Given the description of an element on the screen output the (x, y) to click on. 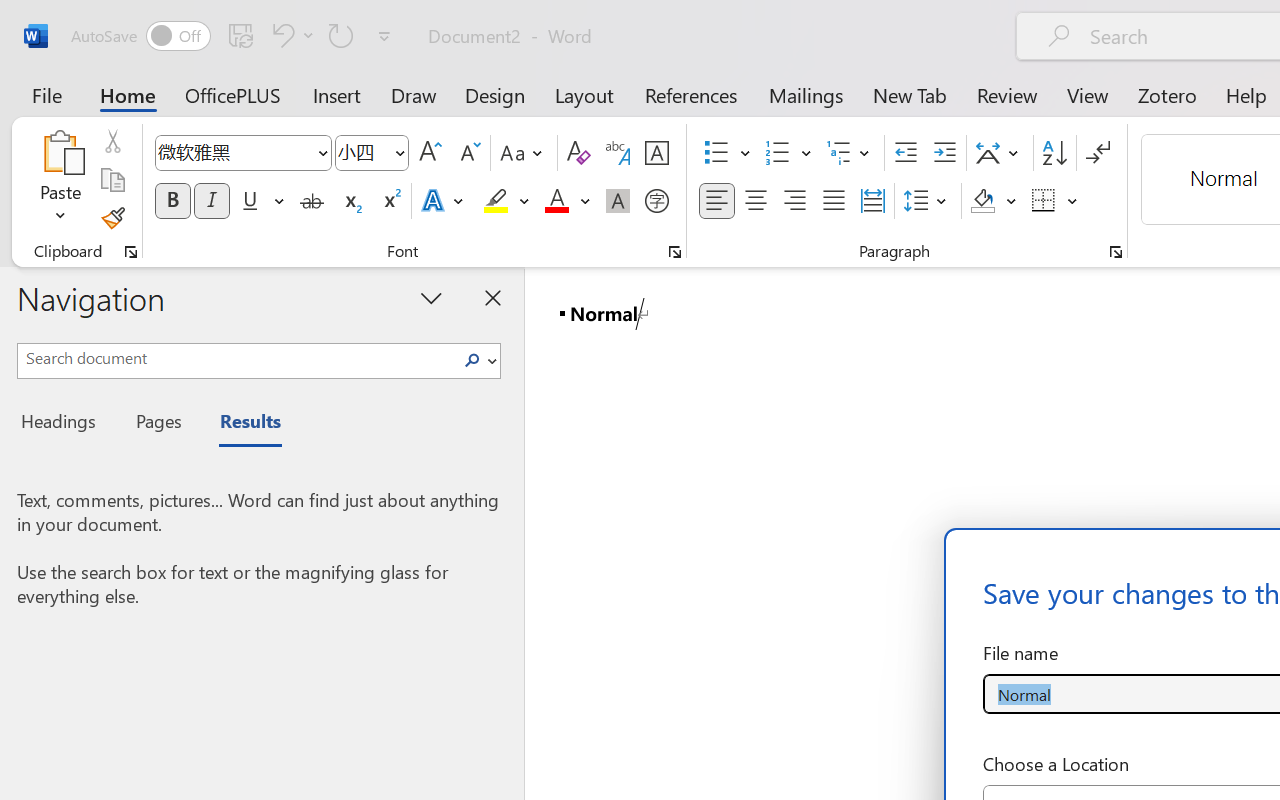
Font (242, 153)
Enclose Characters... (656, 201)
Quick Access Toolbar (233, 36)
Paste (60, 179)
Multilevel List (850, 153)
Numbering (788, 153)
References (690, 94)
Open (399, 152)
Zotero (1166, 94)
Strikethrough (312, 201)
Font (234, 152)
Customize Quick Access Toolbar (384, 35)
Undo Style (290, 35)
